Given the description of an element on the screen output the (x, y) to click on. 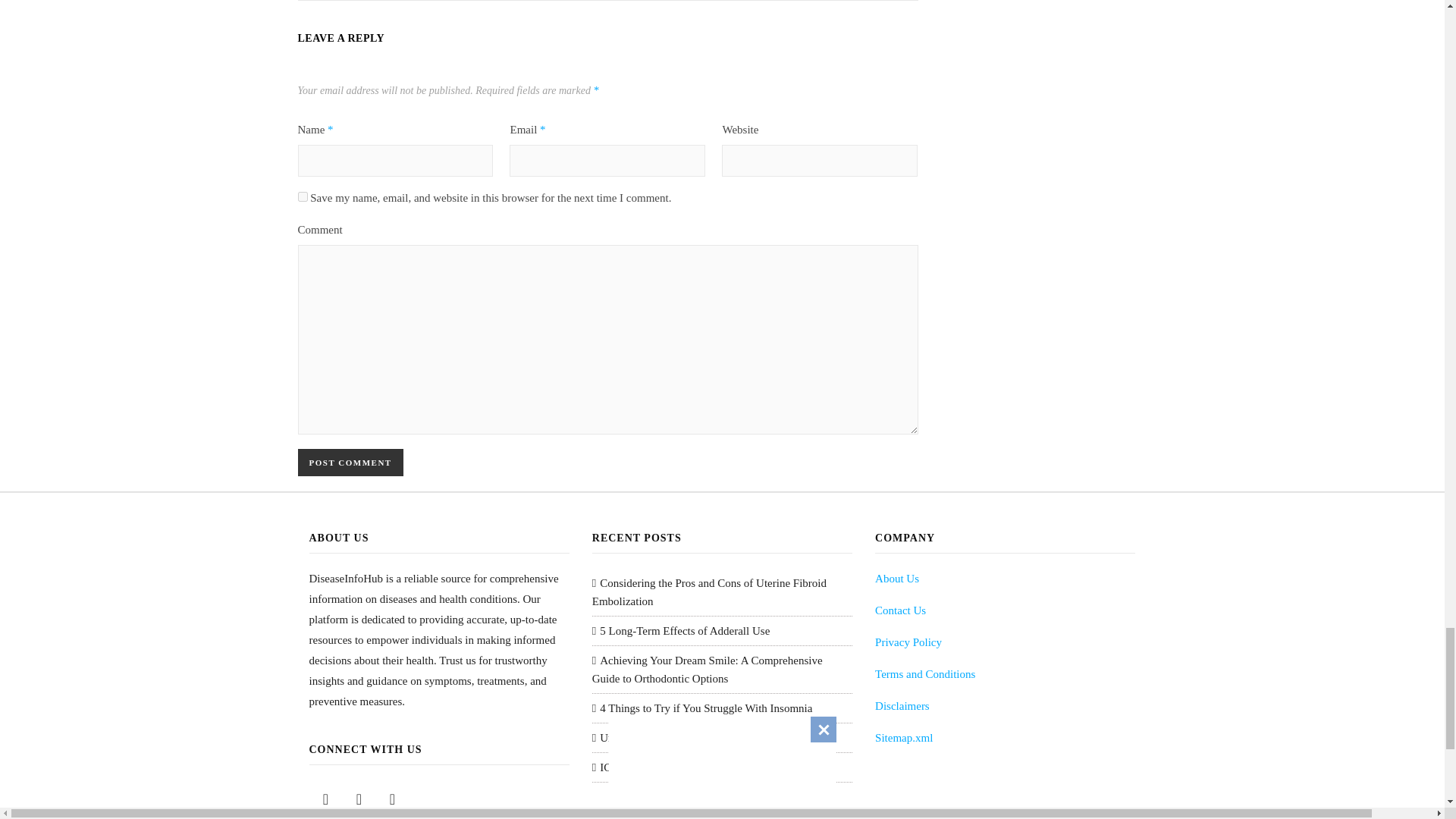
yes (302, 196)
Social Media Icons (358, 798)
Post Comment (350, 461)
Social Media Icons (392, 798)
Social Media Icons (325, 798)
